Given the description of an element on the screen output the (x, y) to click on. 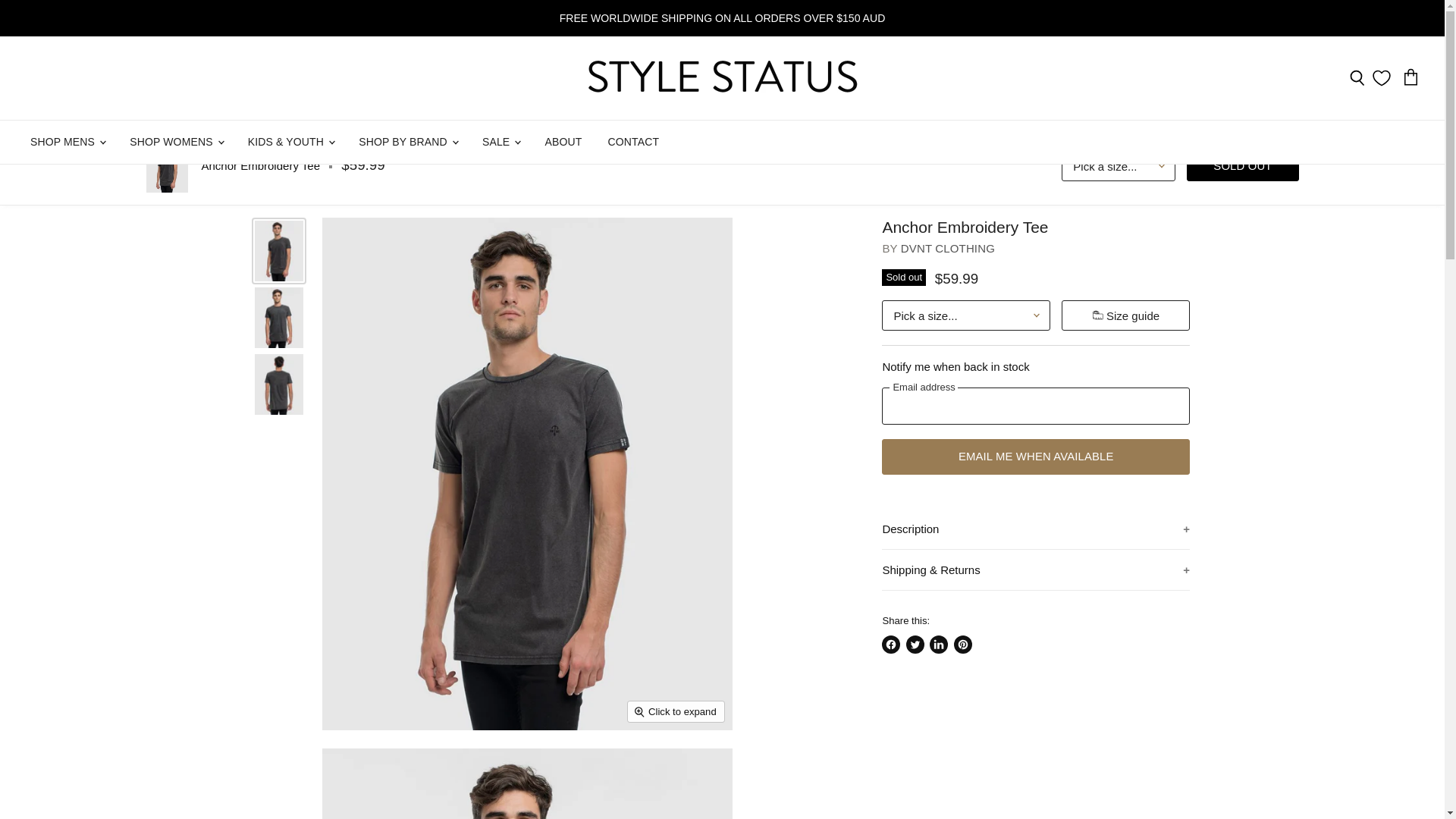
SHOP BY BRAND (407, 142)
SHOP WOMENS (174, 142)
DVNT Clothing (947, 247)
Search (1356, 78)
SHOP MENS (66, 142)
